Given the description of an element on the screen output the (x, y) to click on. 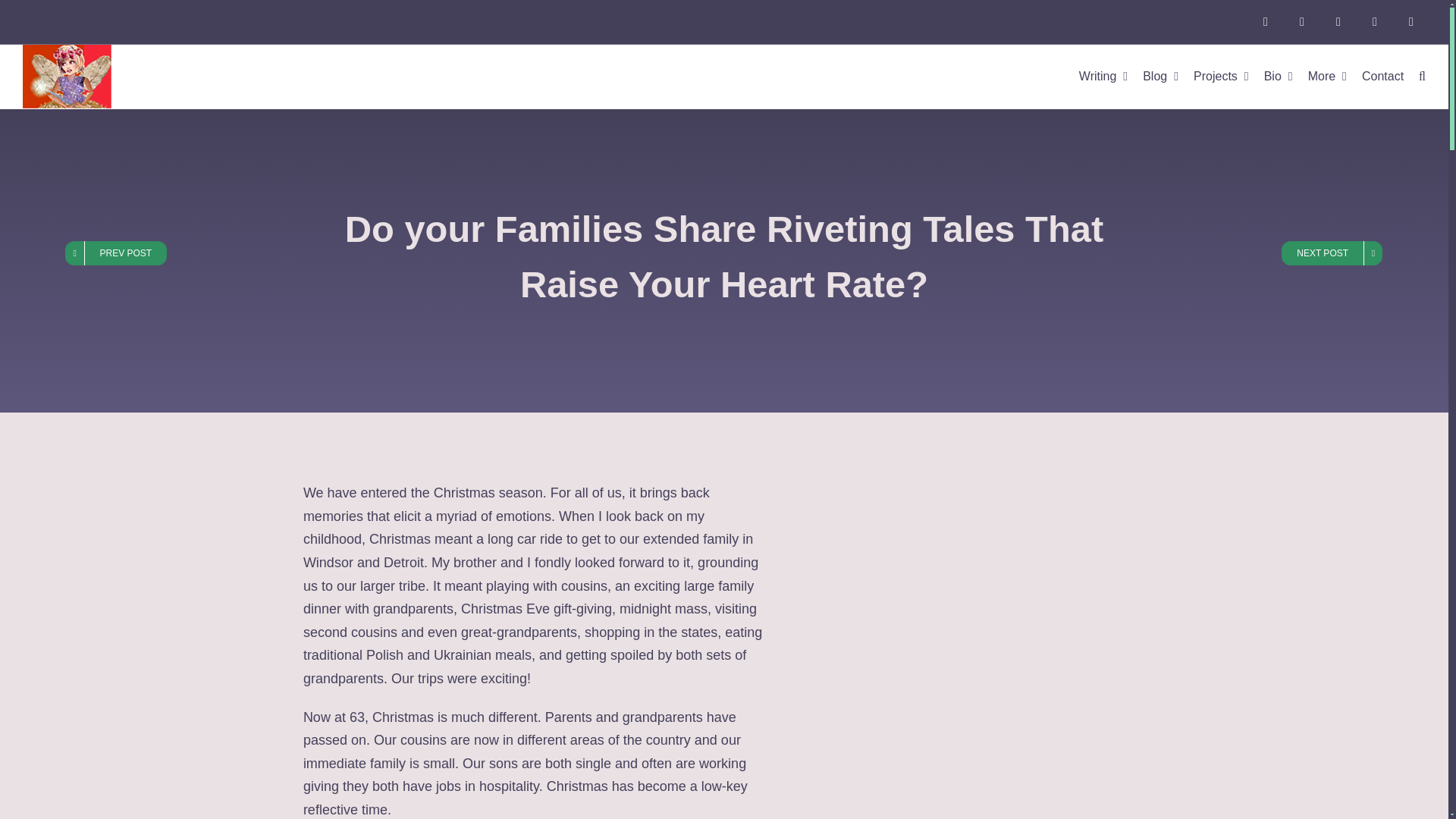
YouTube (1337, 21)
Facebook (1264, 21)
LinkedIn (1374, 21)
Facebook (1264, 21)
LinkedIn (1374, 21)
X (1410, 21)
YouTube (1337, 21)
X (1410, 21)
Instagram (1301, 21)
Instagram (1301, 21)
